Given the description of an element on the screen output the (x, y) to click on. 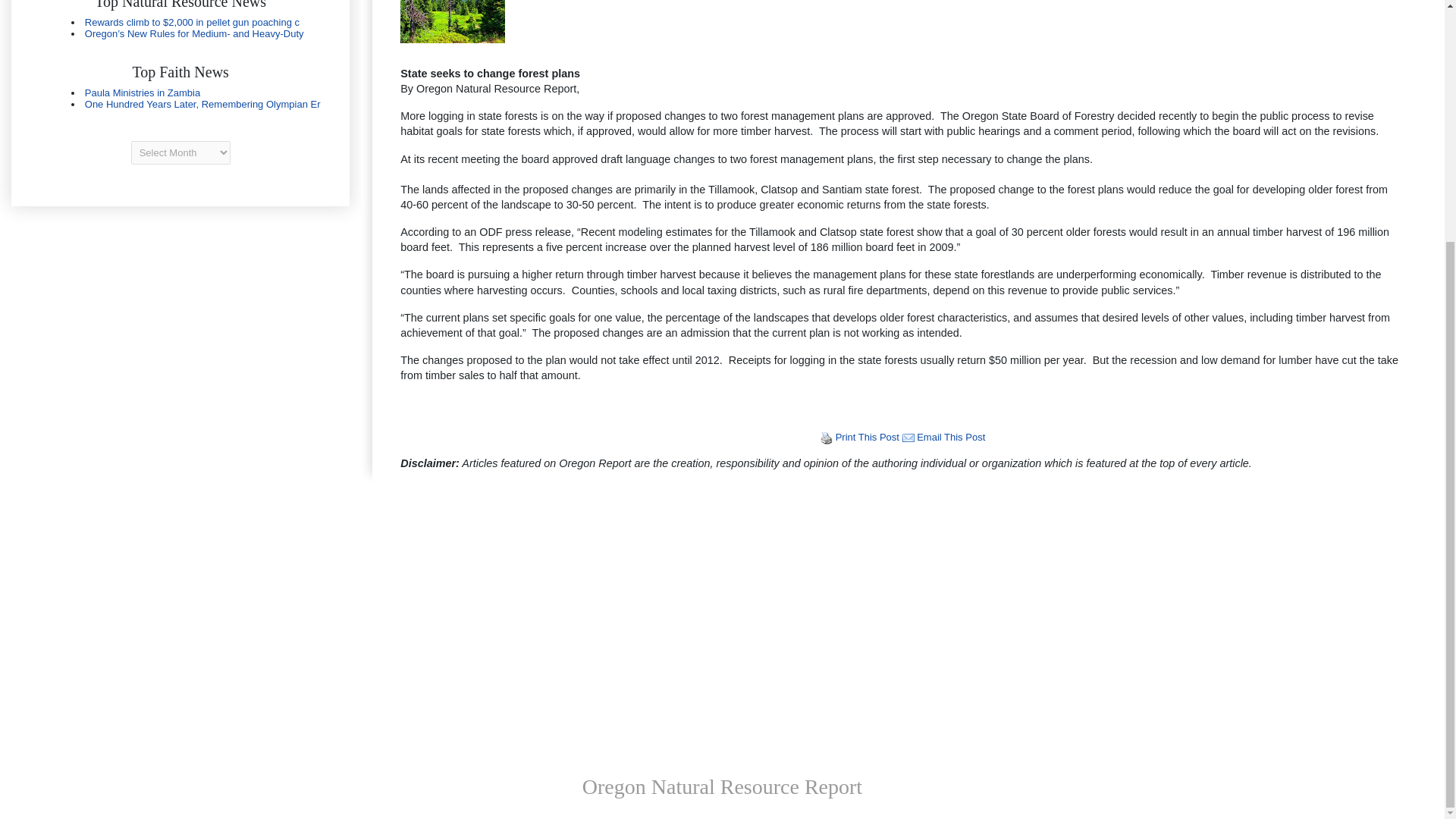
Print This Post (867, 437)
Oregon Natural Resource Report (721, 786)
Email This Post (908, 437)
Oregon (180, 97)
One Hundred Years Later, Remembering Olympian Eric Liddell (202, 103)
Paula Ministries in Zambia (142, 92)
Print This Post (867, 437)
Print This Post (826, 438)
Print This Post (826, 437)
One Hundred Years Later, Remembering Olympian Er (202, 103)
